Given the description of an element on the screen output the (x, y) to click on. 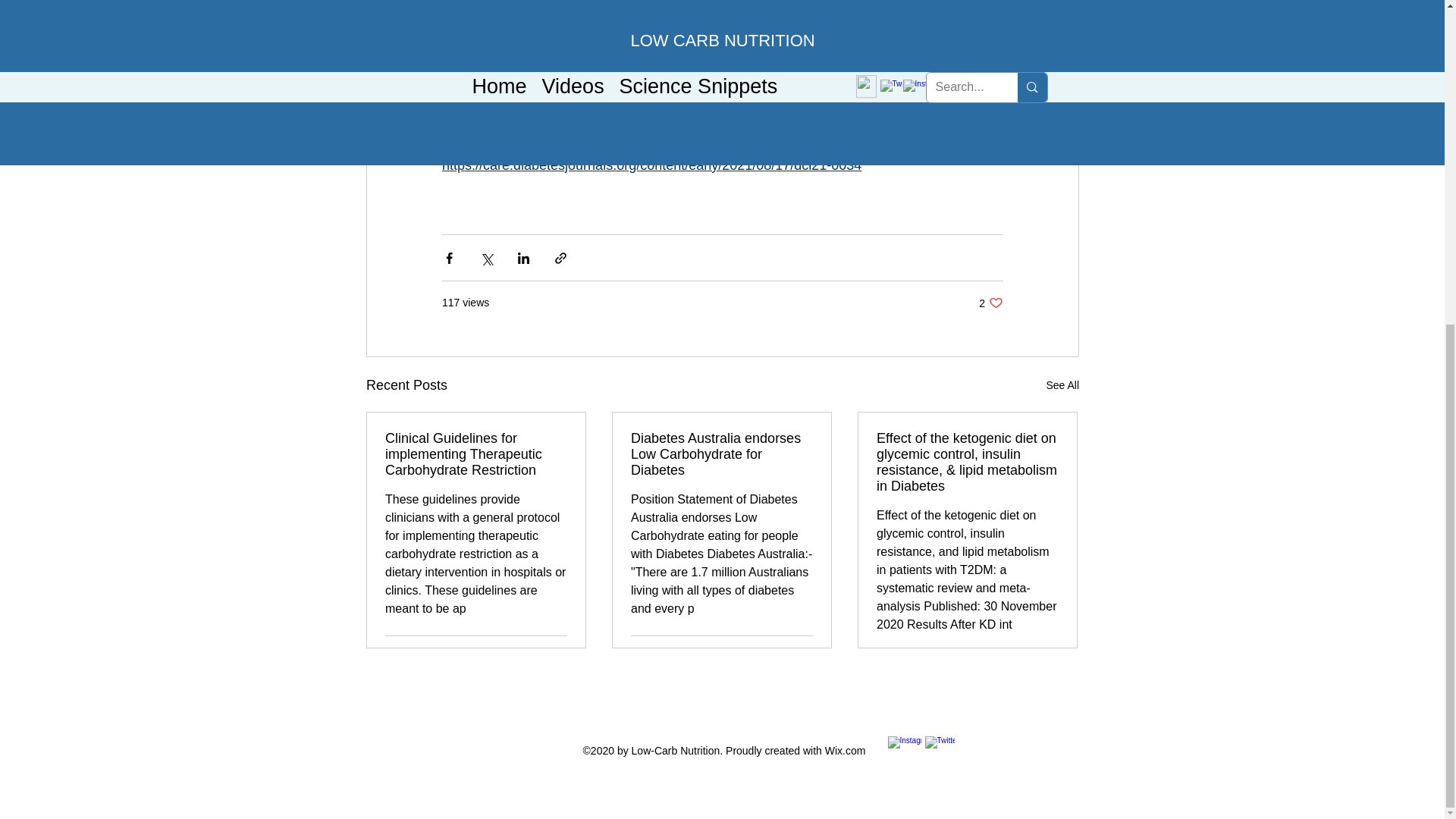
Diabetes Australia endorses Low Carbohydrate for Diabetes (990, 302)
2 likes. Post not marked as liked (721, 454)
See All (555, 654)
1 like. Post not marked as liked (1061, 385)
